Given the description of an element on the screen output the (x, y) to click on. 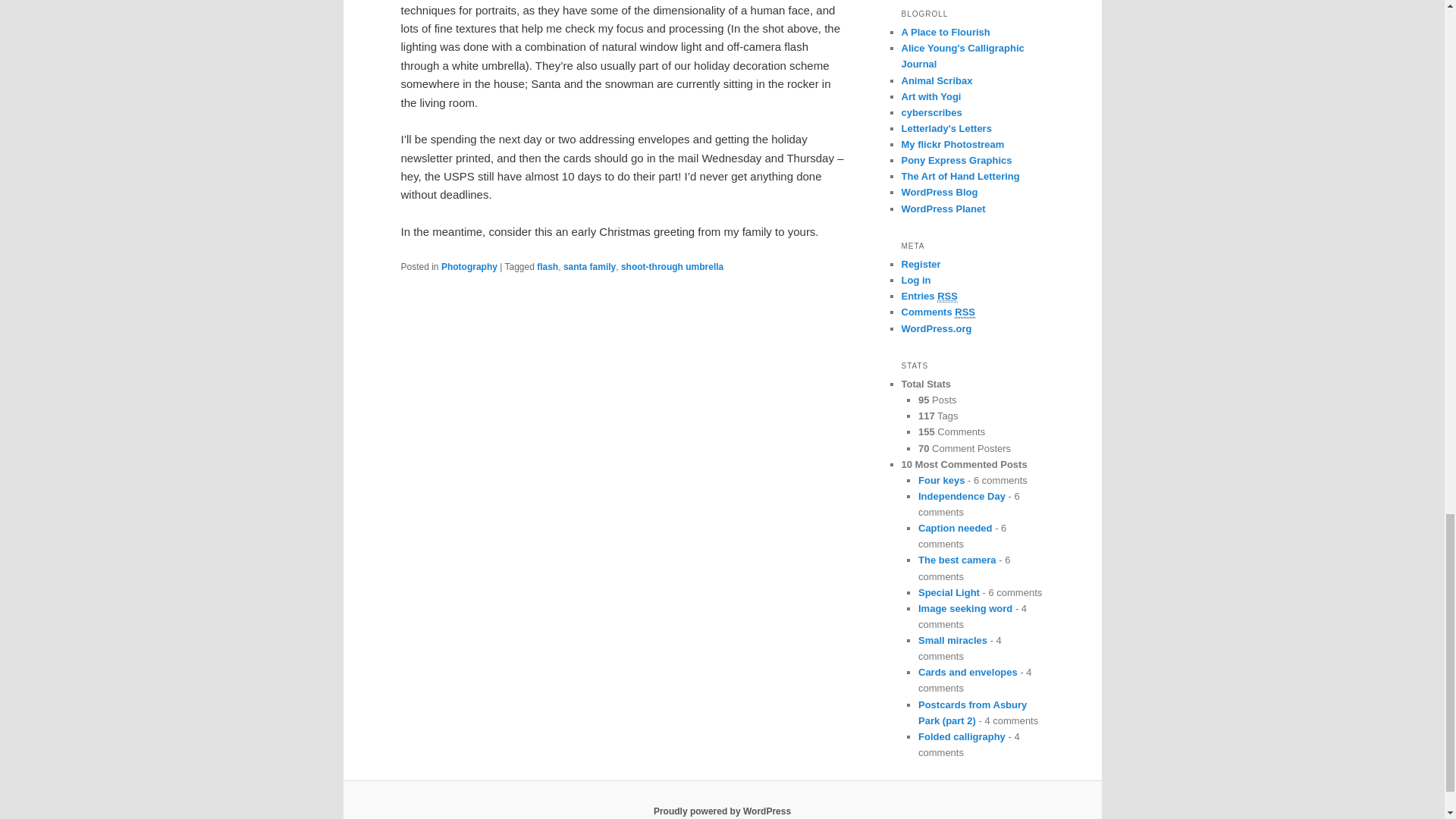
View all posts in Photography (469, 266)
Photography (469, 266)
shoot-through umbrella (672, 266)
flash (547, 266)
santa family (589, 266)
